Given the description of an element on the screen output the (x, y) to click on. 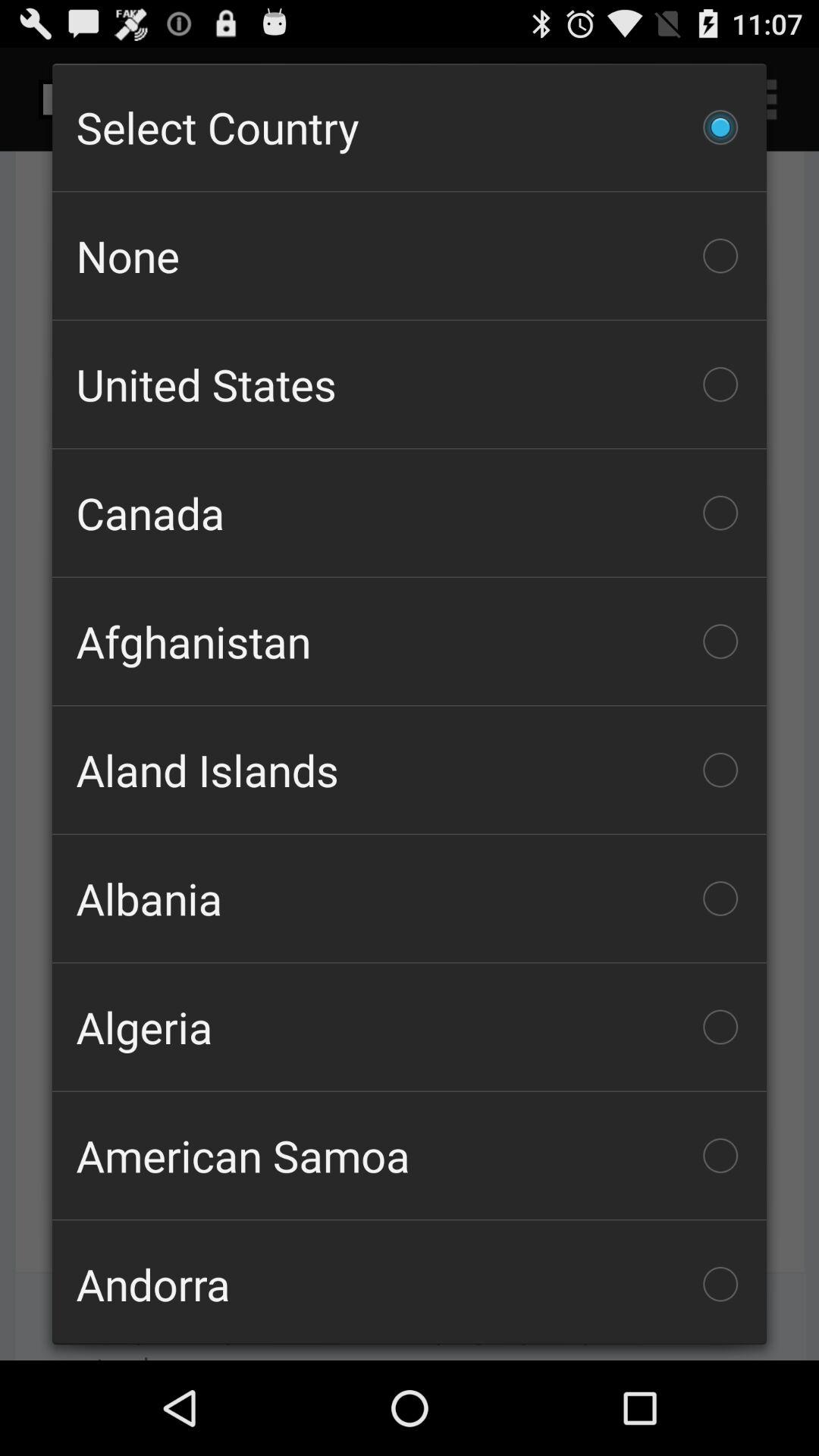
turn on the none (409, 255)
